Given the description of an element on the screen output the (x, y) to click on. 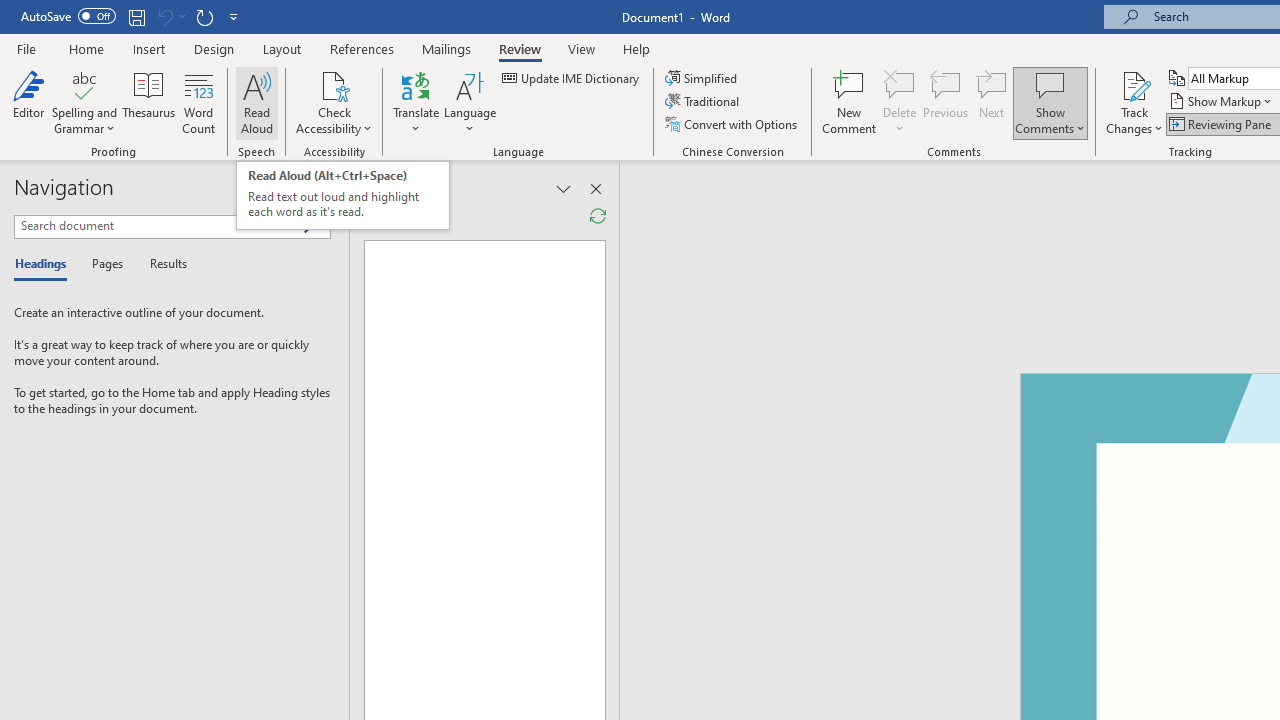
Spelling and Grammar (84, 102)
Thesaurus... (148, 102)
Save (136, 15)
Read Aloud (256, 102)
Search (311, 227)
Help (637, 48)
Task Pane Options (293, 188)
Headings (45, 264)
Check Accessibility (334, 84)
Can't Undo (164, 15)
Repeat Doc Close (204, 15)
Refresh Reviewing Pane (597, 215)
Traditional (703, 101)
Spelling and Grammar (84, 84)
Show Comments (1050, 102)
